Given the description of an element on the screen output the (x, y) to click on. 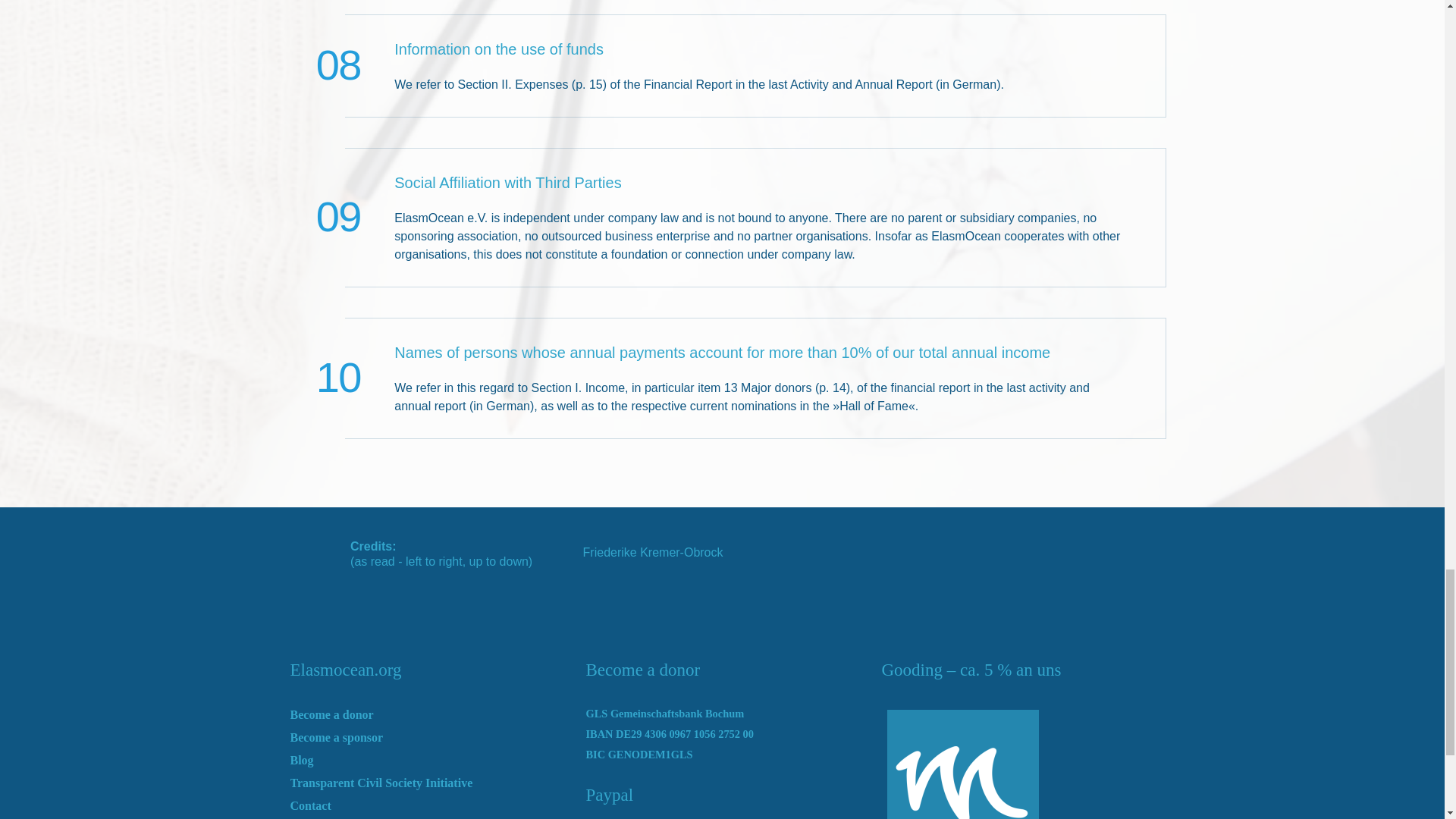
Gooding Banner-Widget (1007, 761)
